Given the description of an element on the screen output the (x, y) to click on. 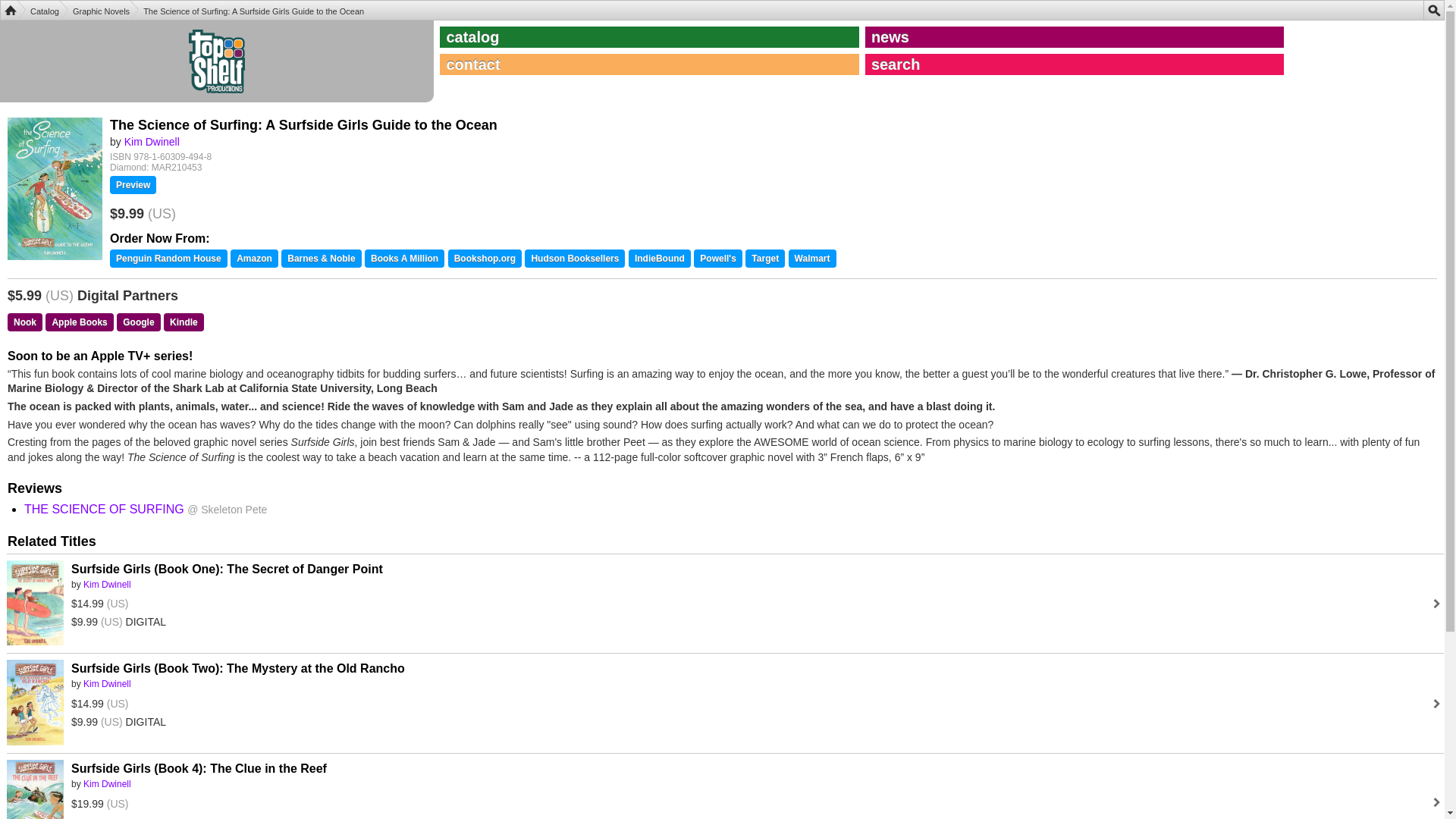
catalog (649, 36)
search (1074, 64)
Powell's (718, 258)
Bookshop.org (484, 258)
Books A Million (404, 258)
Amazon (254, 258)
Kim Dwinell (151, 141)
Walmart (812, 258)
news (1074, 36)
Top Shelf Productions (10, 10)
Hudson Booksellers (574, 258)
Catalog (37, 9)
Kim Dwinell (106, 683)
contact (649, 64)
Kindle (183, 321)
